Given the description of an element on the screen output the (x, y) to click on. 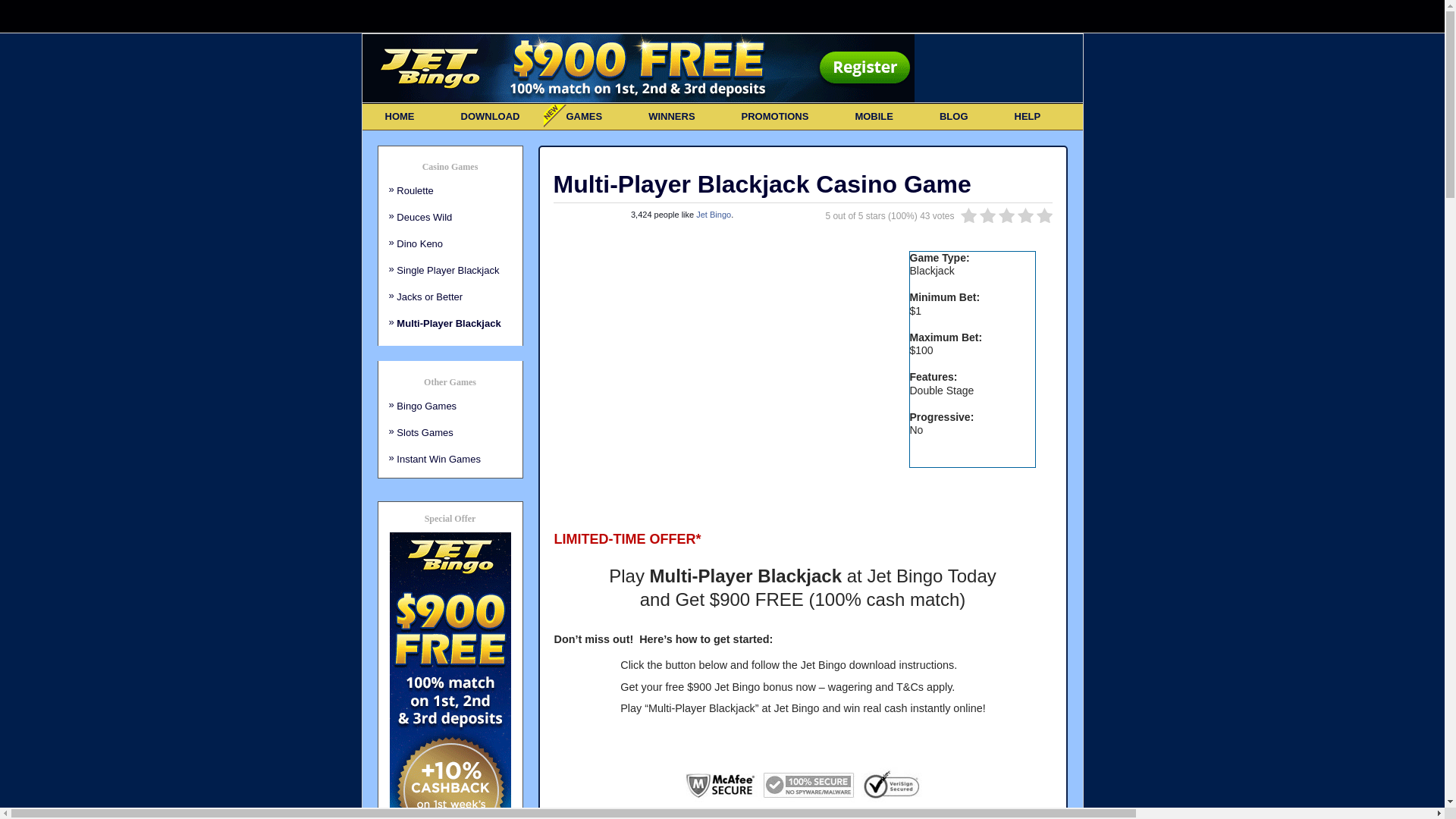
BLOG Element type: text (953, 116)
MOBILE Element type: text (873, 116)
Multi-Player Blackjack Element type: text (448, 323)
Single Player Blackjack Element type: text (447, 270)
WINNERS Element type: text (671, 116)
Roulette Element type: text (414, 190)
Jet Bingo download instructions Element type: text (876, 664)
HELP Element type: text (1027, 116)
GAMES Element type: text (583, 116)
Deuces Wild Element type: text (423, 216)
Bingo Games Element type: text (426, 405)
Jacks or Better Element type: text (429, 296)
Jet Bingo bonus Element type: text (753, 686)
HOME Element type: text (399, 116)
PROMOTIONS Element type: text (774, 116)
Instant Win Games Element type: text (438, 458)
DOWNLOAD Element type: text (490, 116)
Slots Games Element type: text (424, 432)
Dino Keno Element type: text (419, 243)
